Given the description of an element on the screen output the (x, y) to click on. 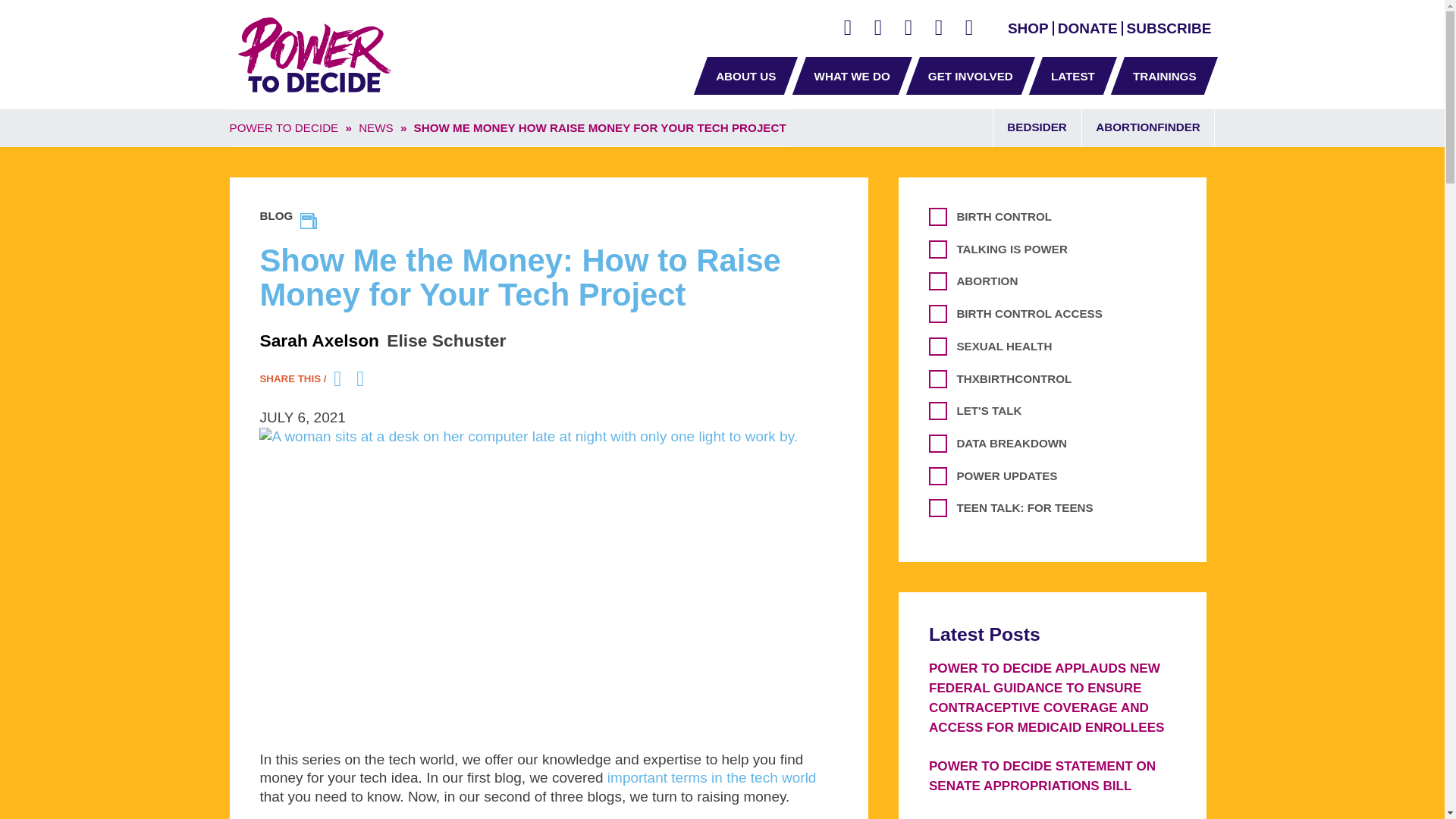
Facebook (337, 378)
Facebook (847, 21)
GET INVOLVED (969, 75)
Search (970, 21)
SUBSCRIBE (1168, 28)
SHOP (1027, 28)
Home (315, 54)
Twitter (360, 378)
ABOUT US (745, 75)
Twitter (878, 21)
